Given the description of an element on the screen output the (x, y) to click on. 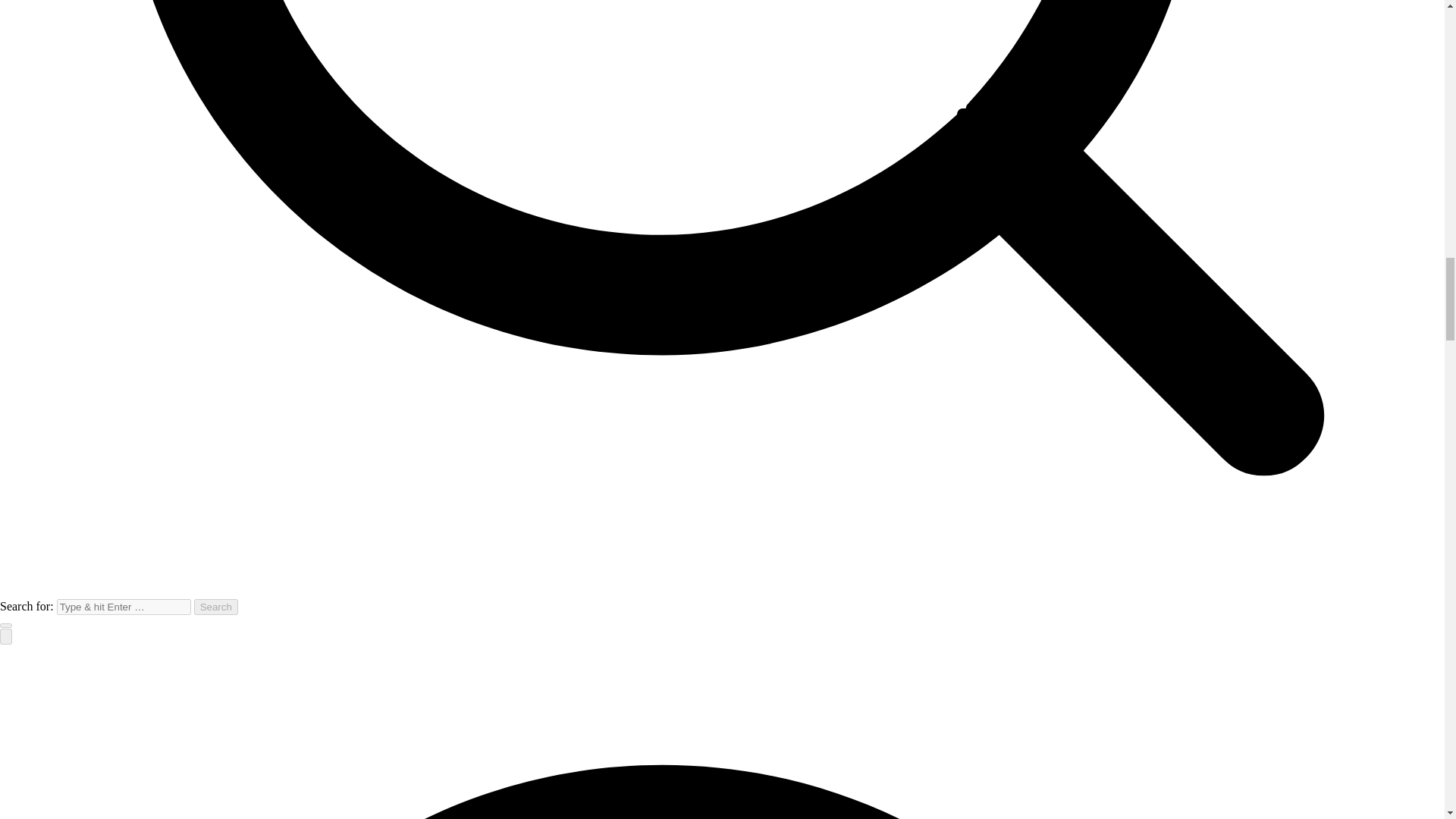
Search (215, 606)
Search (215, 606)
Search for: (123, 606)
Search (215, 606)
